Given the description of an element on the screen output the (x, y) to click on. 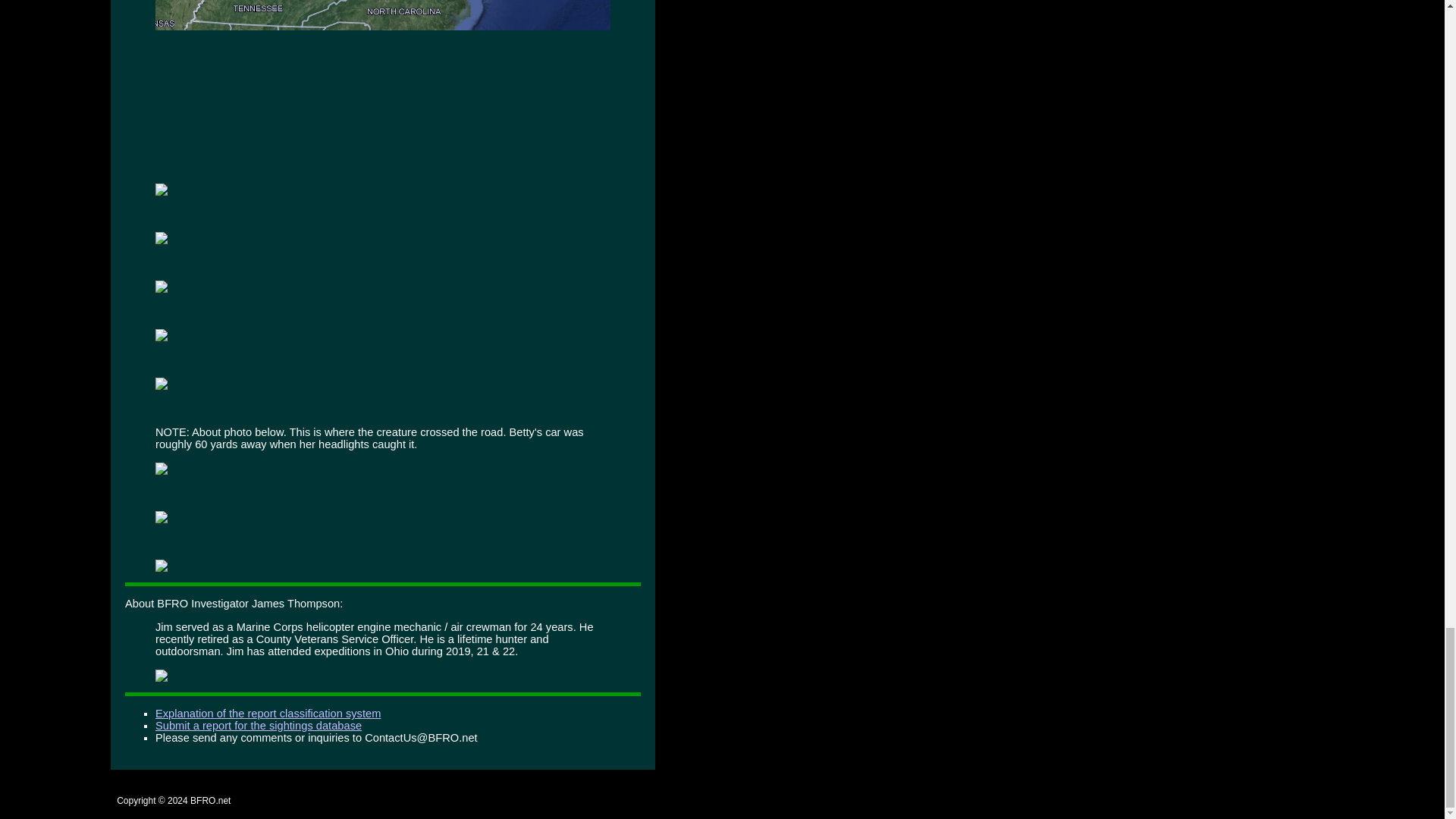
Submit a report for the sightings database (258, 725)
Explanation of the report classification system (267, 713)
